Given the description of an element on the screen output the (x, y) to click on. 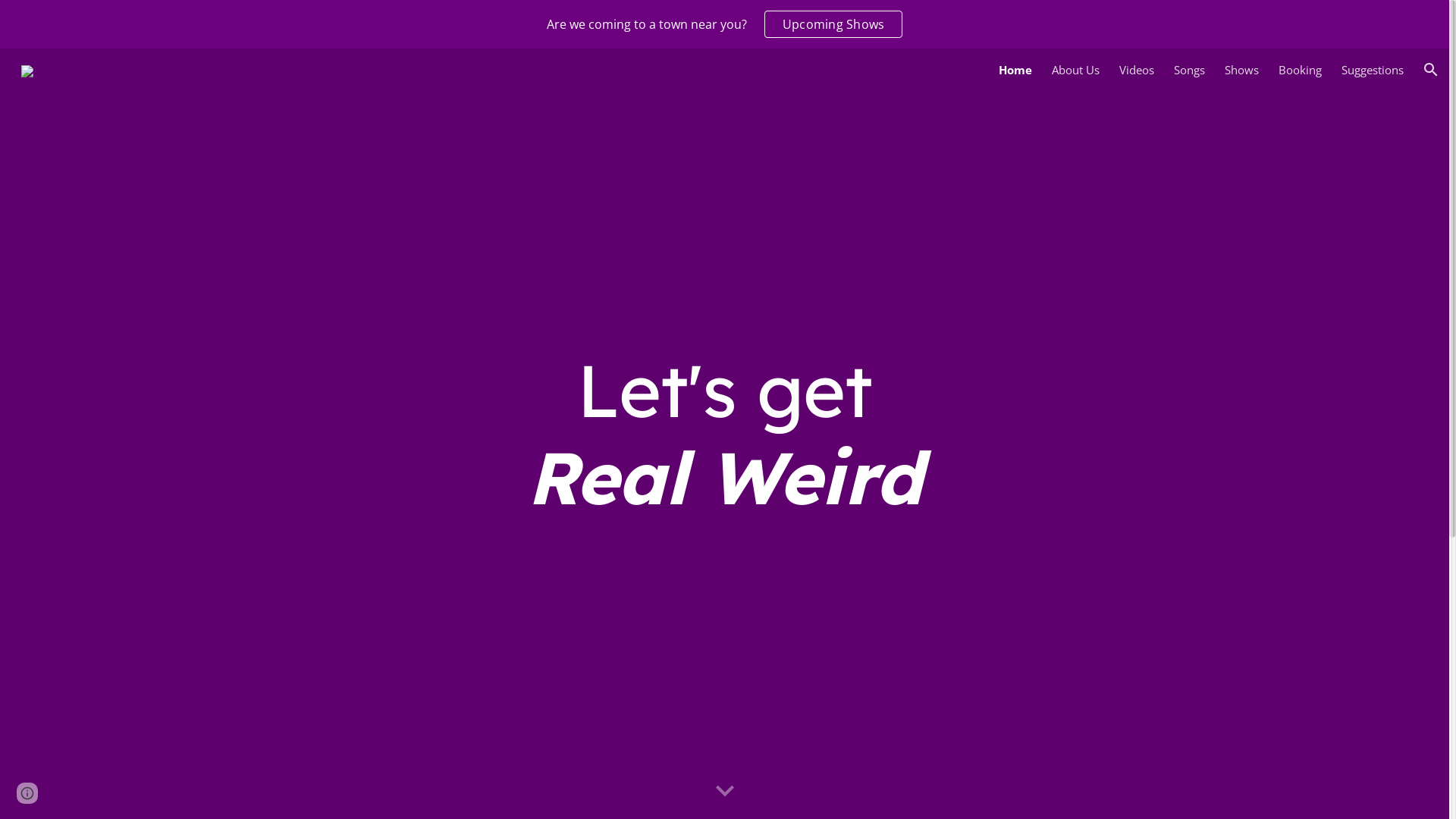
About Us Element type: text (1075, 69)
Songs Element type: text (1188, 69)
Suggestions Element type: text (1372, 69)
Videos Element type: text (1136, 69)
Booking Element type: text (1299, 69)
Home Element type: text (1015, 69)
Shows Element type: text (1241, 69)
Upcoming Shows Element type: text (833, 24)
